Given the description of an element on the screen output the (x, y) to click on. 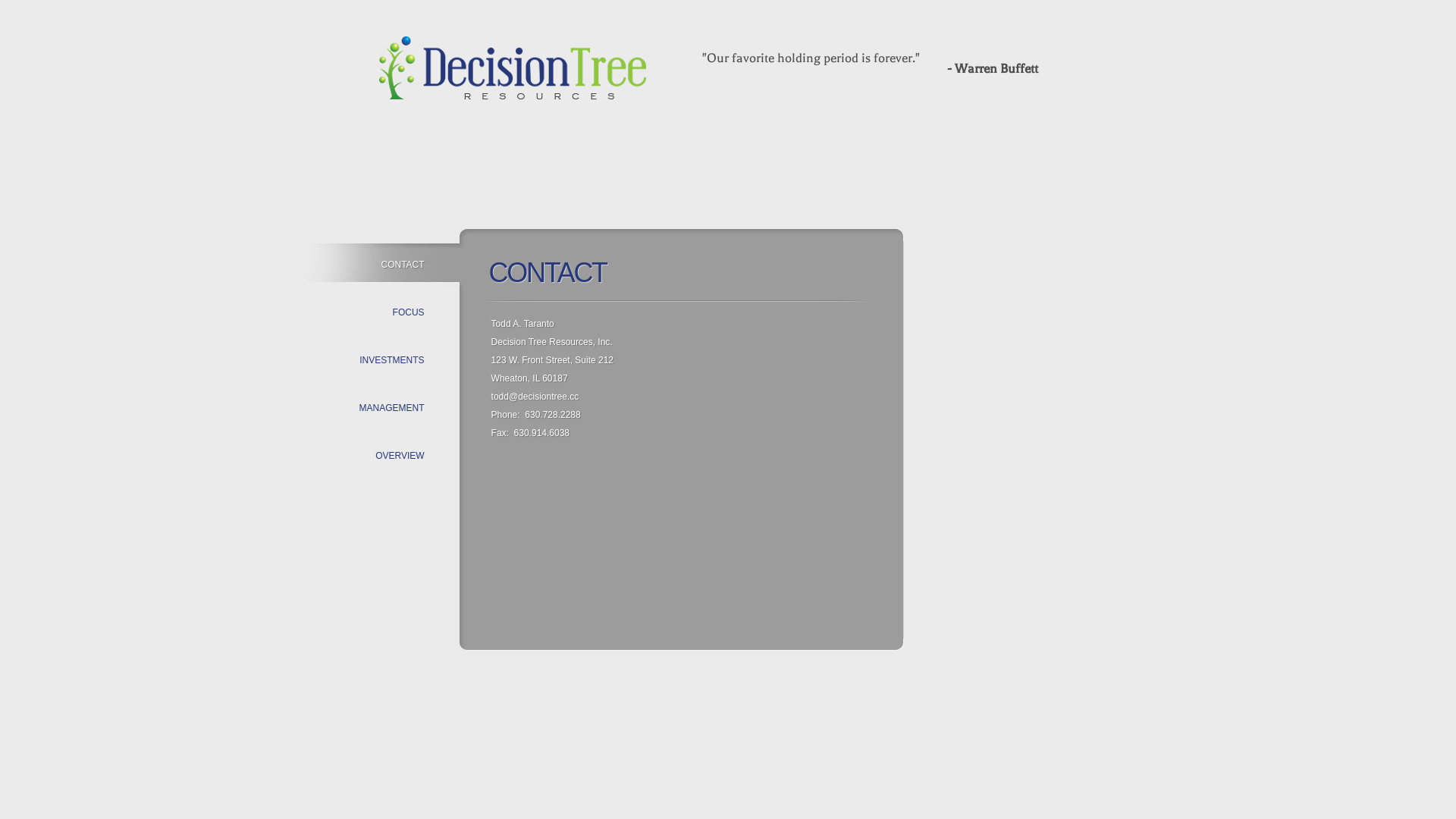
CONTACT Element type: text (405, 264)
INVESTMENTS Element type: text (395, 360)
FOCUS Element type: text (412, 312)
OVERVIEW Element type: text (403, 455)
MANAGEMENT Element type: text (395, 407)
